Given the description of an element on the screen output the (x, y) to click on. 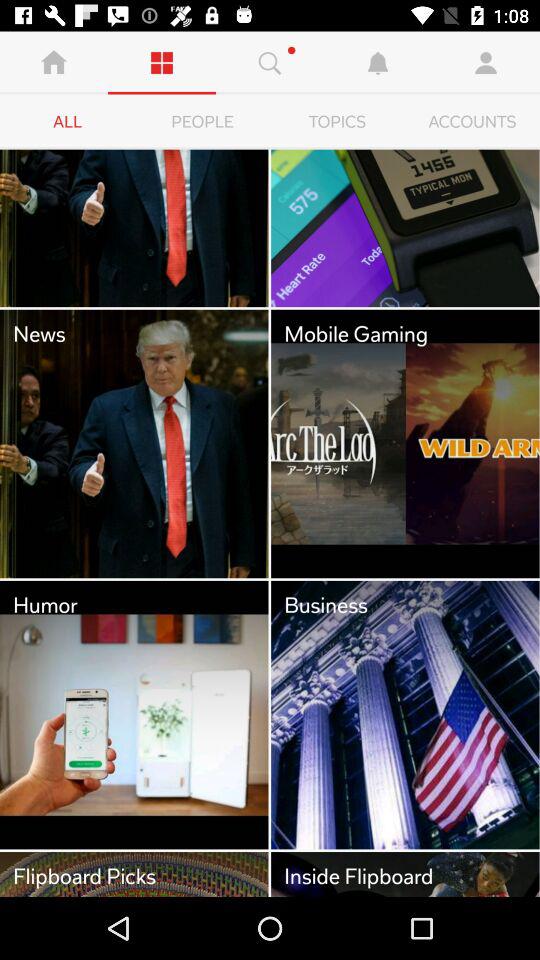
launch people icon (202, 121)
